Given the description of an element on the screen output the (x, y) to click on. 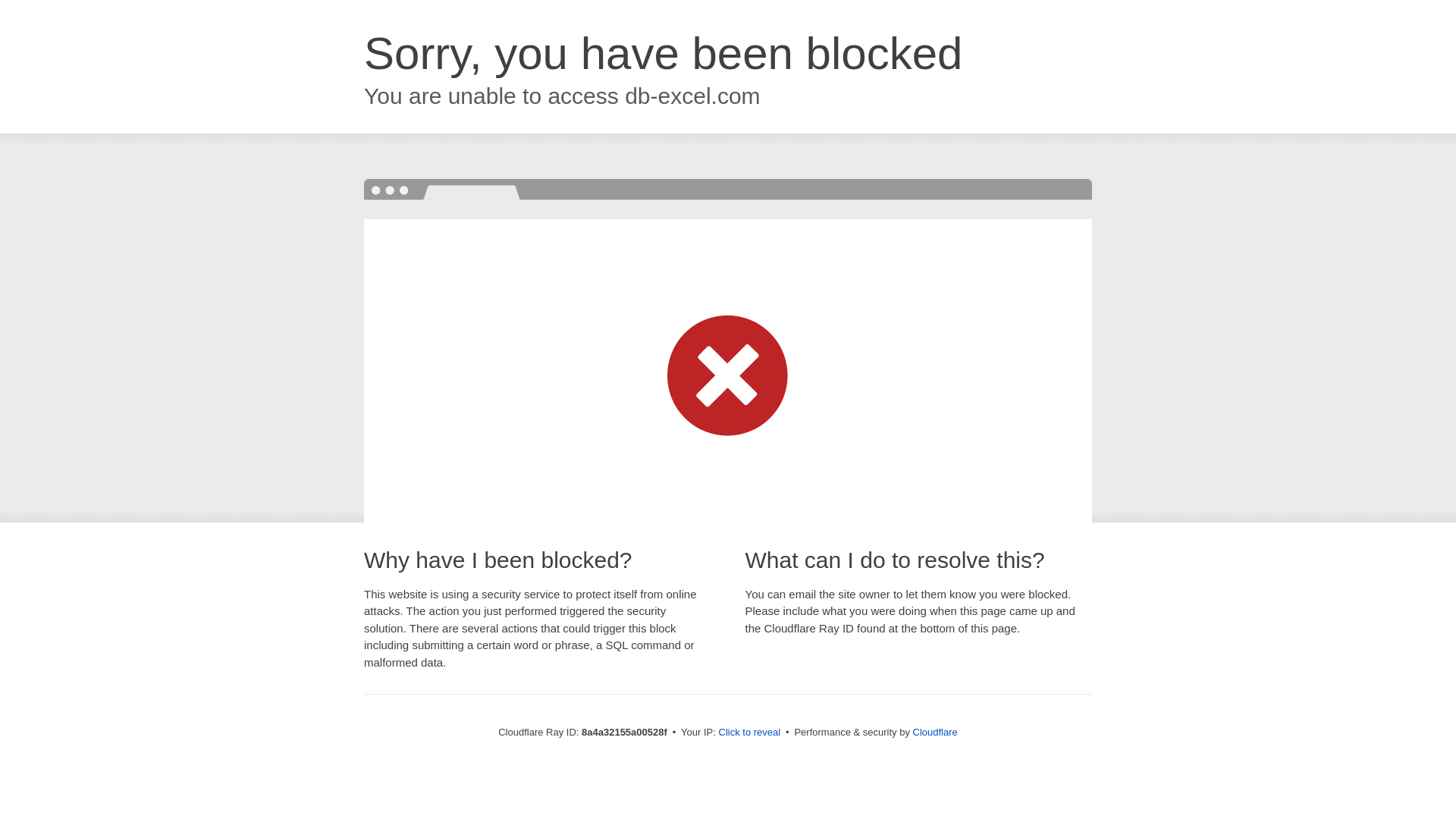
Cloudflare (935, 731)
Click to reveal (749, 732)
